Given the description of an element on the screen output the (x, y) to click on. 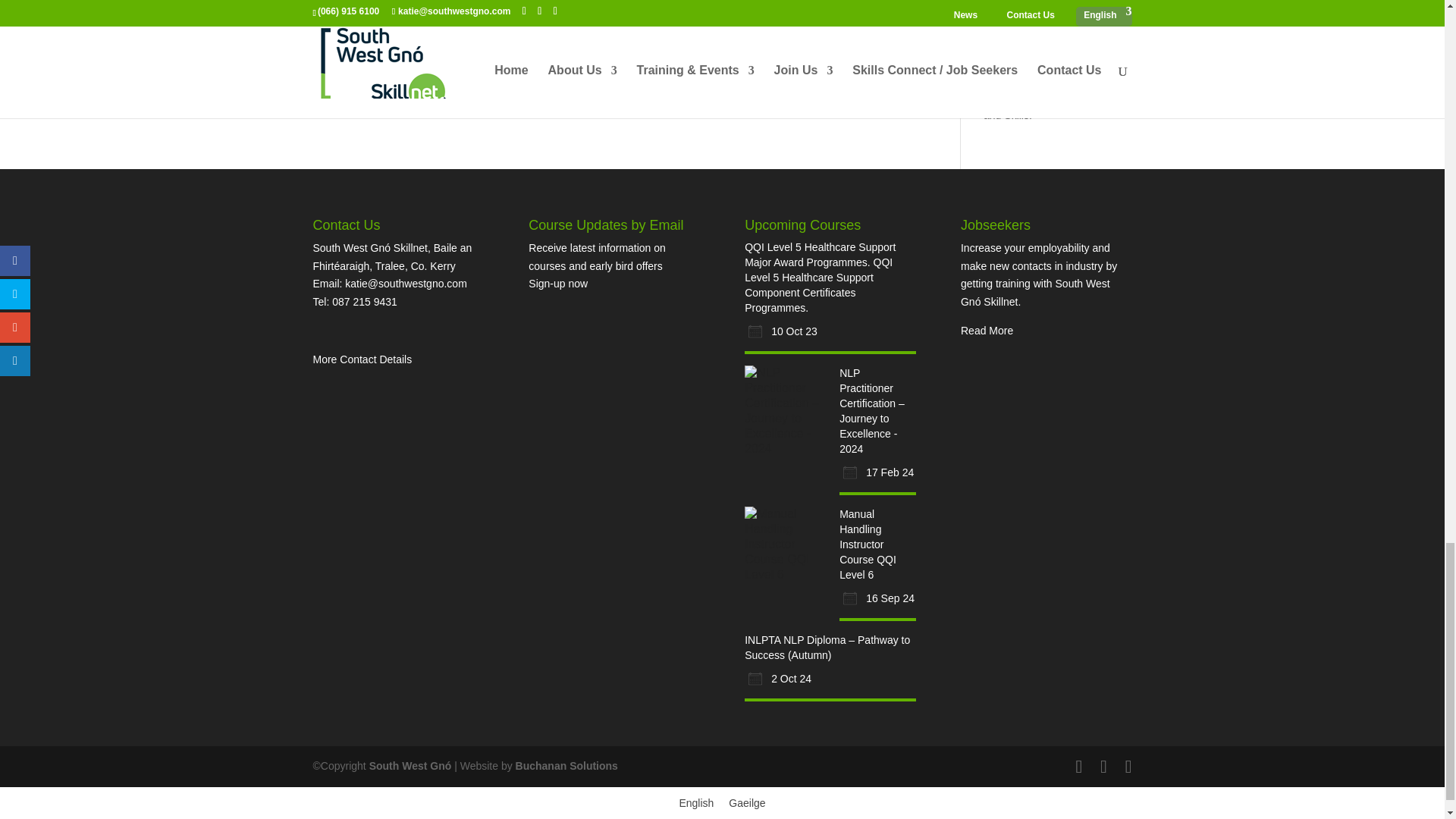
South West Gno Skillnet (410, 766)
